Given the description of an element on the screen output the (x, y) to click on. 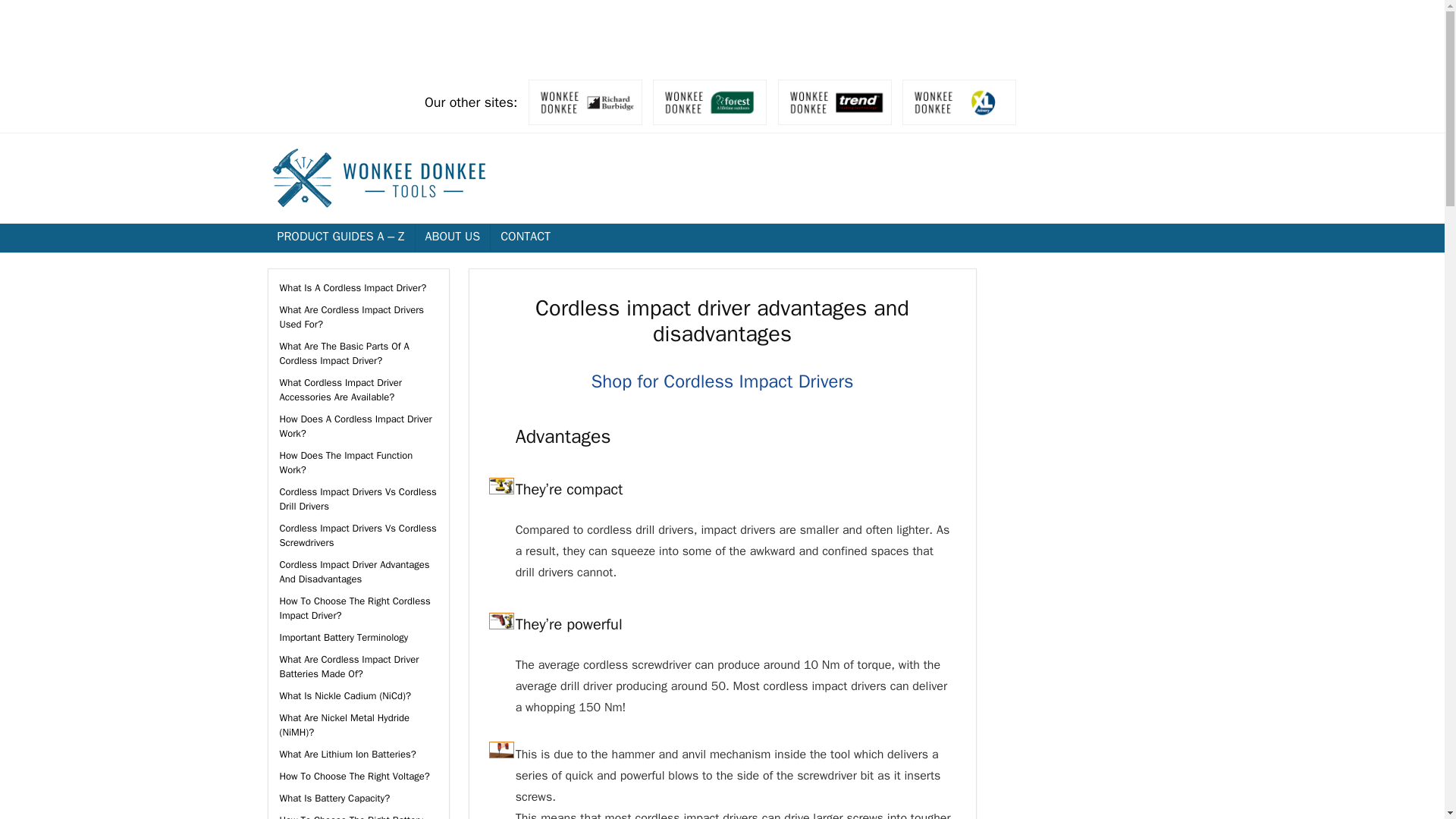
How Does The Impact Function Work? (345, 461)
What Are Cordless Impact Driver Batteries Made Of? (349, 666)
Important Battery Terminology (343, 636)
What Are Cordless Impact Drivers Used For? (351, 316)
Cordless Impact Drivers Vs Cordless Screwdrivers (357, 534)
How To Choose The Right Voltage? (354, 775)
What Are The Basic Parts Of A Cordless Impact Driver? (344, 352)
How To Choose The Right Cordless Impact Driver? (354, 607)
Cordless screwdriver and cordless impact driver (501, 620)
How Does A Cordless Impact Driver Work? (354, 425)
Cordless Impact Driver Advantages And Disadvantages (354, 571)
Advertisement (721, 33)
CONTACT (525, 237)
What Is A Cordless Impact Driver? (352, 287)
Driving in larger screws (501, 750)
